Given the description of an element on the screen output the (x, y) to click on. 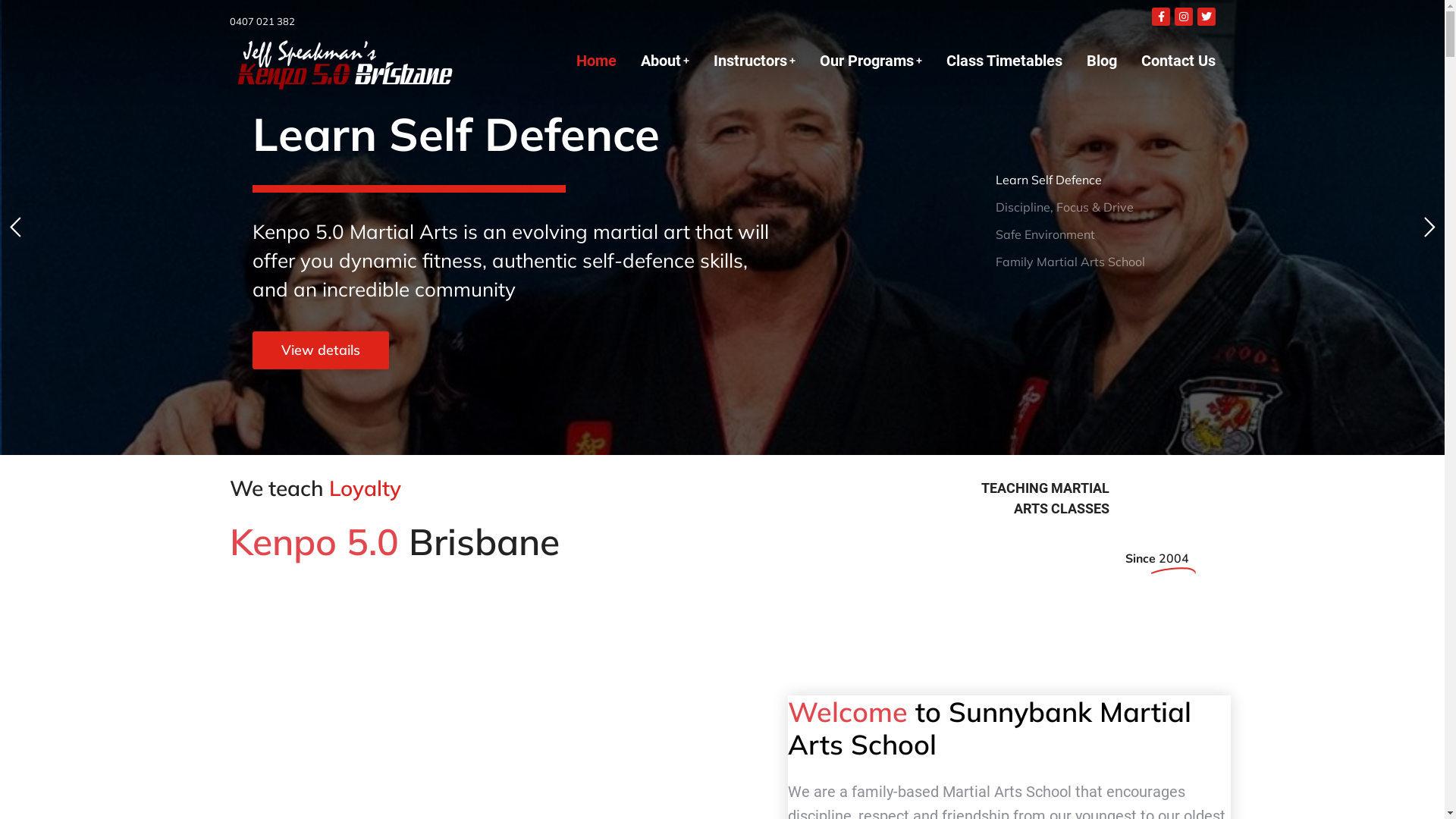
Class Timetables Element type: text (1004, 60)
About Element type: text (664, 60)
Home Element type: text (596, 60)
Instructors Element type: text (753, 60)
Our Programs Element type: text (870, 60)
View details Element type: text (319, 350)
Contact Us Element type: text (1177, 60)
0407 021 382 Element type: text (261, 21)
Blog Element type: text (1100, 60)
